Given the description of an element on the screen output the (x, y) to click on. 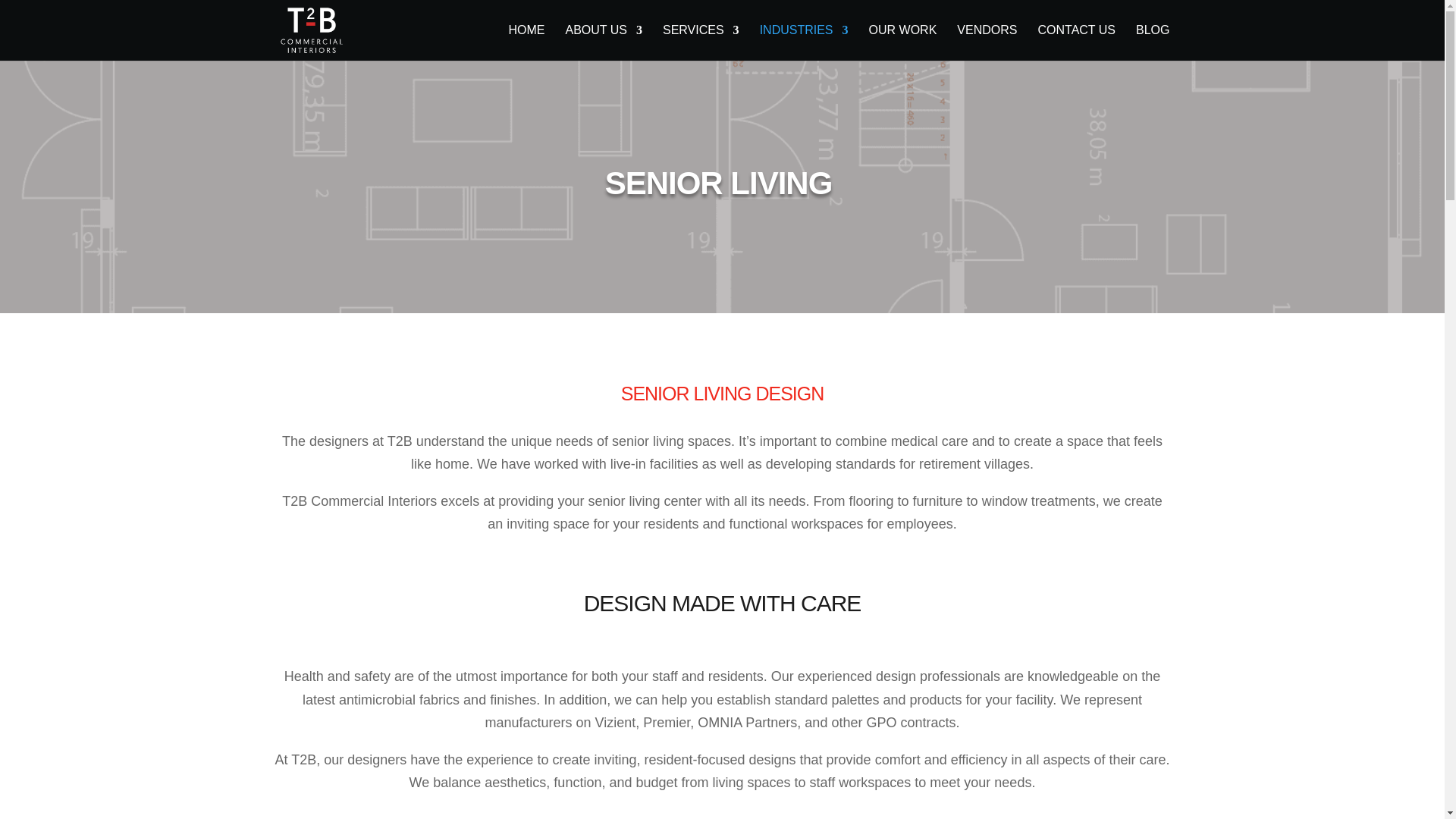
HOME (526, 42)
VENDORS (986, 42)
BLOG (1152, 42)
OUR WORK (903, 42)
CONTACT US (1075, 42)
ABOUT US (603, 42)
INDUSTRIES (804, 42)
SERVICES (700, 42)
